Given the description of an element on the screen output the (x, y) to click on. 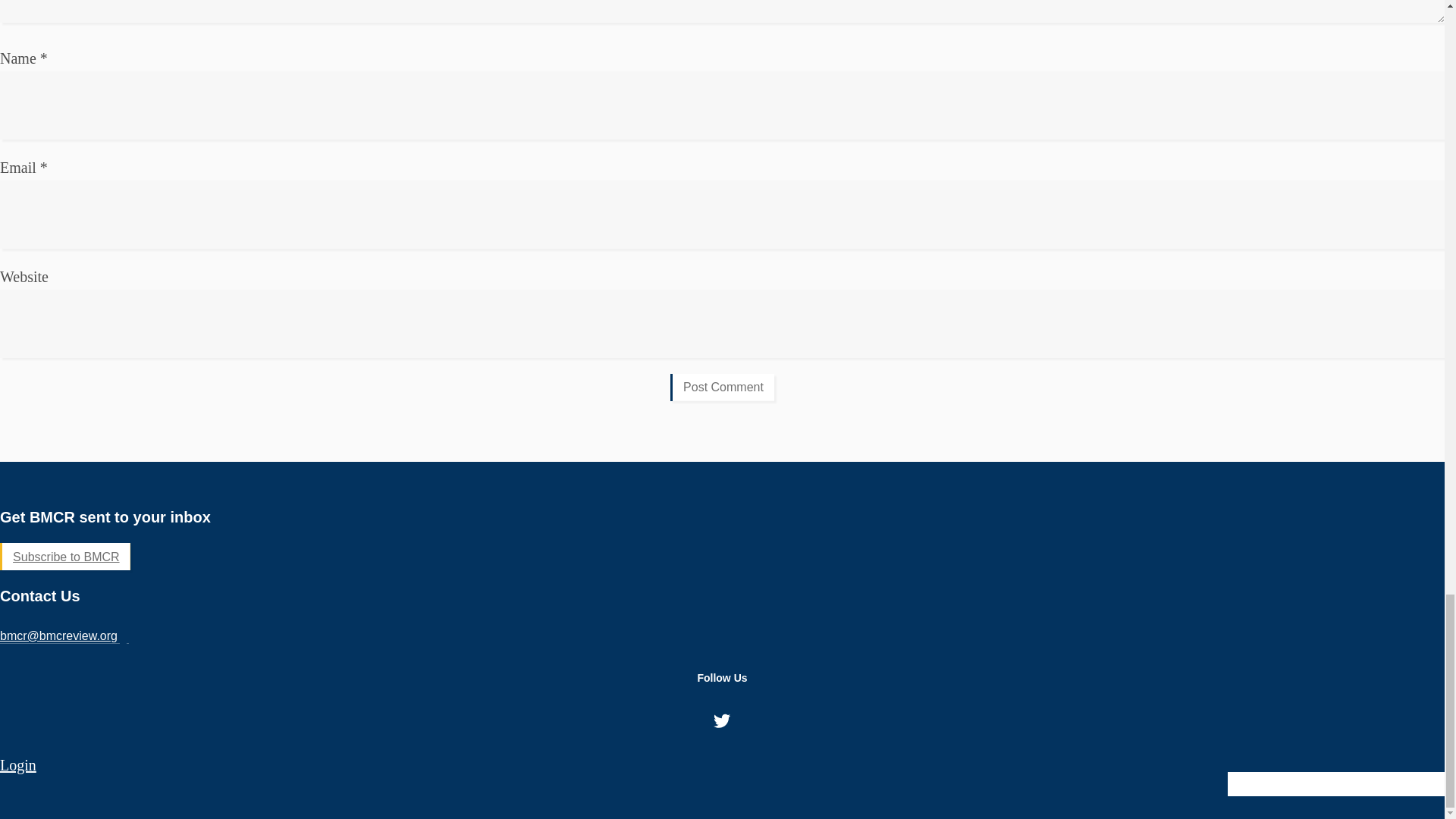
Post Comment (721, 386)
Login (18, 764)
Subscribe to BMCR (65, 556)
Post Comment (721, 386)
